Given the description of an element on the screen output the (x, y) to click on. 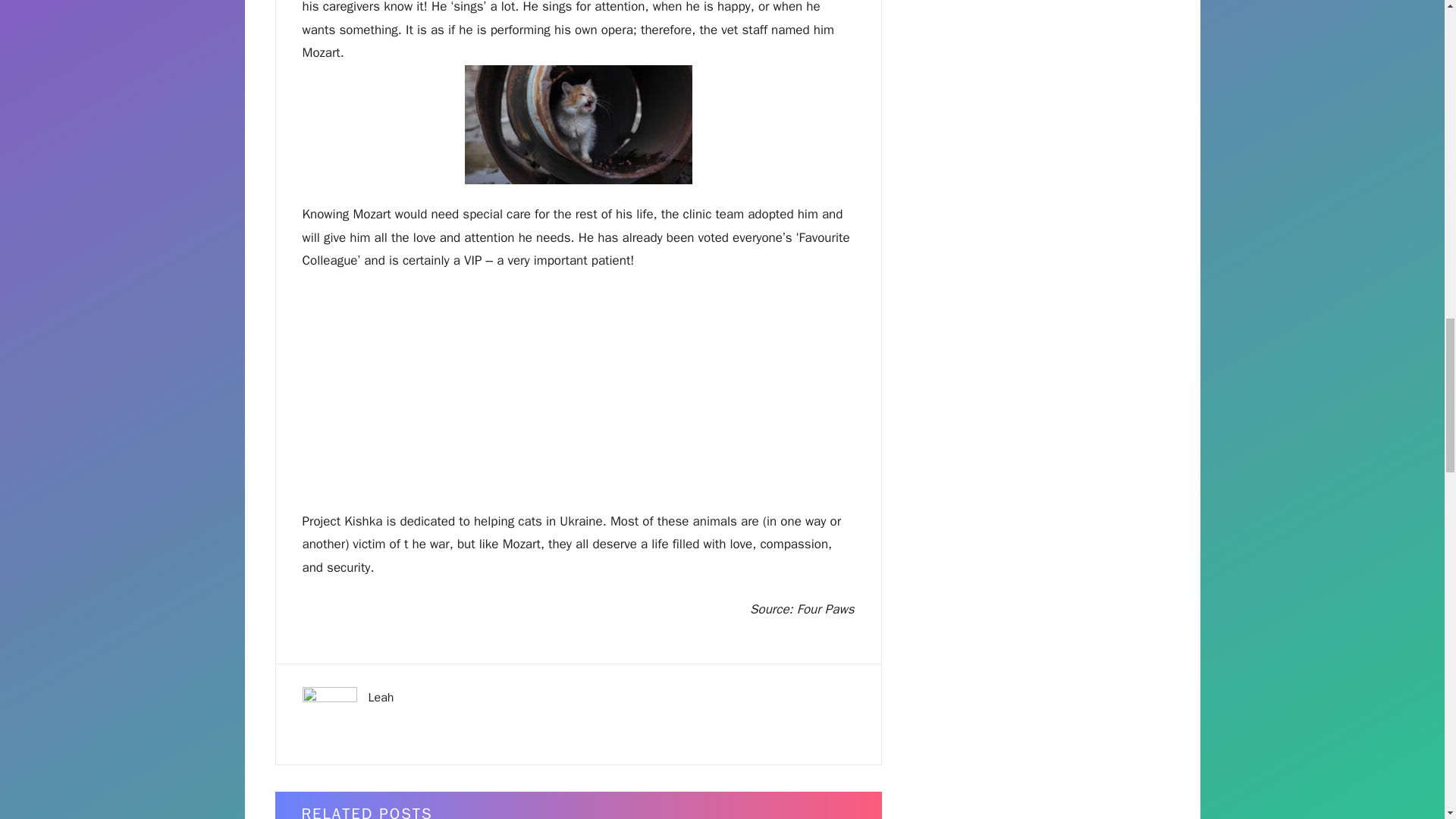
Leah (381, 697)
Advertisement (577, 397)
